Given the description of an element on the screen output the (x, y) to click on. 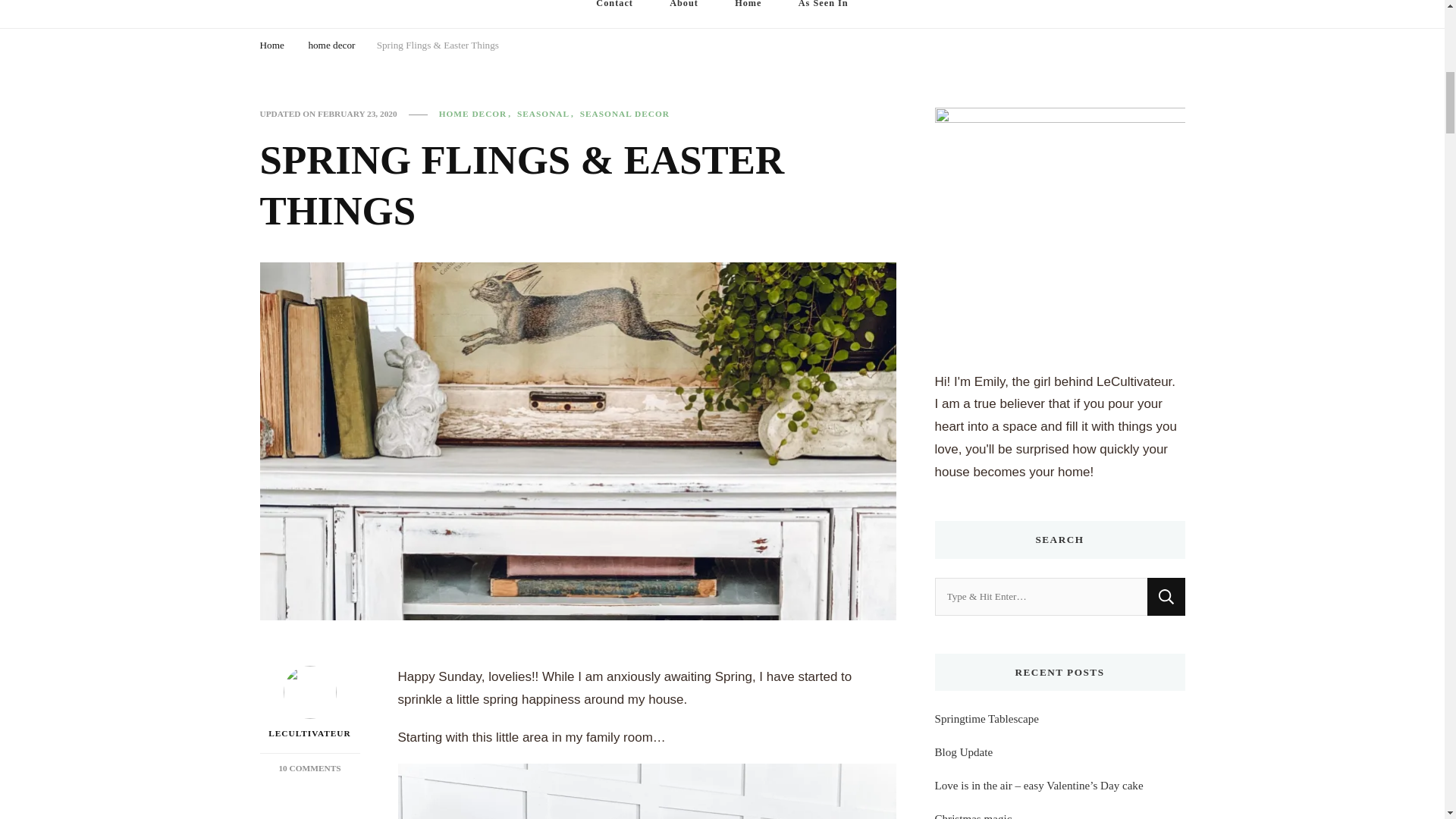
home decor (331, 46)
Home (747, 13)
As Seen In (822, 13)
FEBRUARY 23, 2020 (357, 113)
SEASONAL DECOR (624, 113)
HOME DECOR (477, 113)
Search (1166, 596)
Home (271, 46)
Contact (614, 13)
Search (1166, 596)
